Given the description of an element on the screen output the (x, y) to click on. 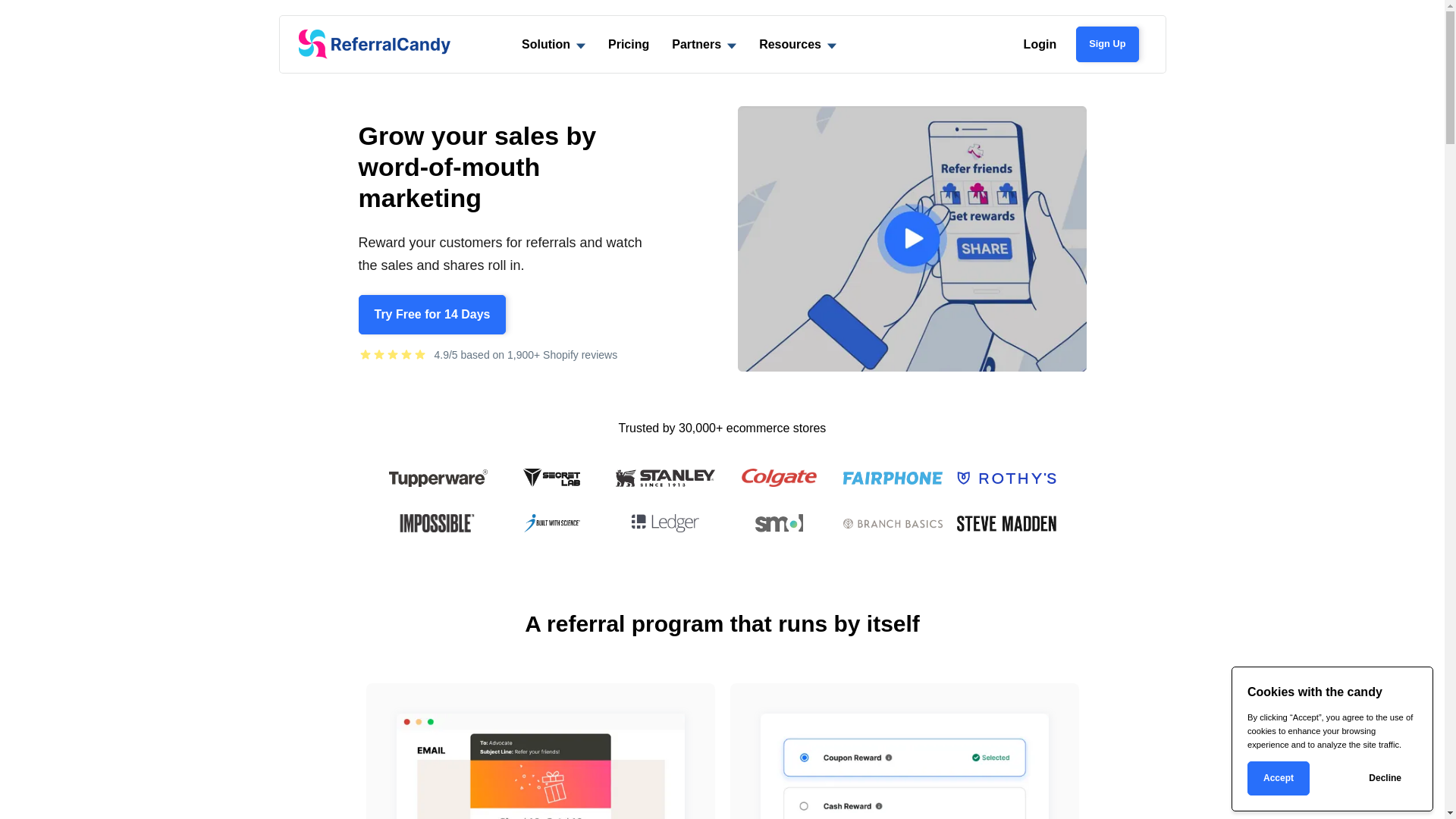
Try Free for 14 Days Element type: text (431, 314)
Login Element type: text (1040, 43)
Sign Up Element type: text (1107, 43)
Decline Element type: text (1384, 778)
Accept Element type: text (1278, 778)
Pricing Element type: text (628, 43)
